Given the description of an element on the screen output the (x, y) to click on. 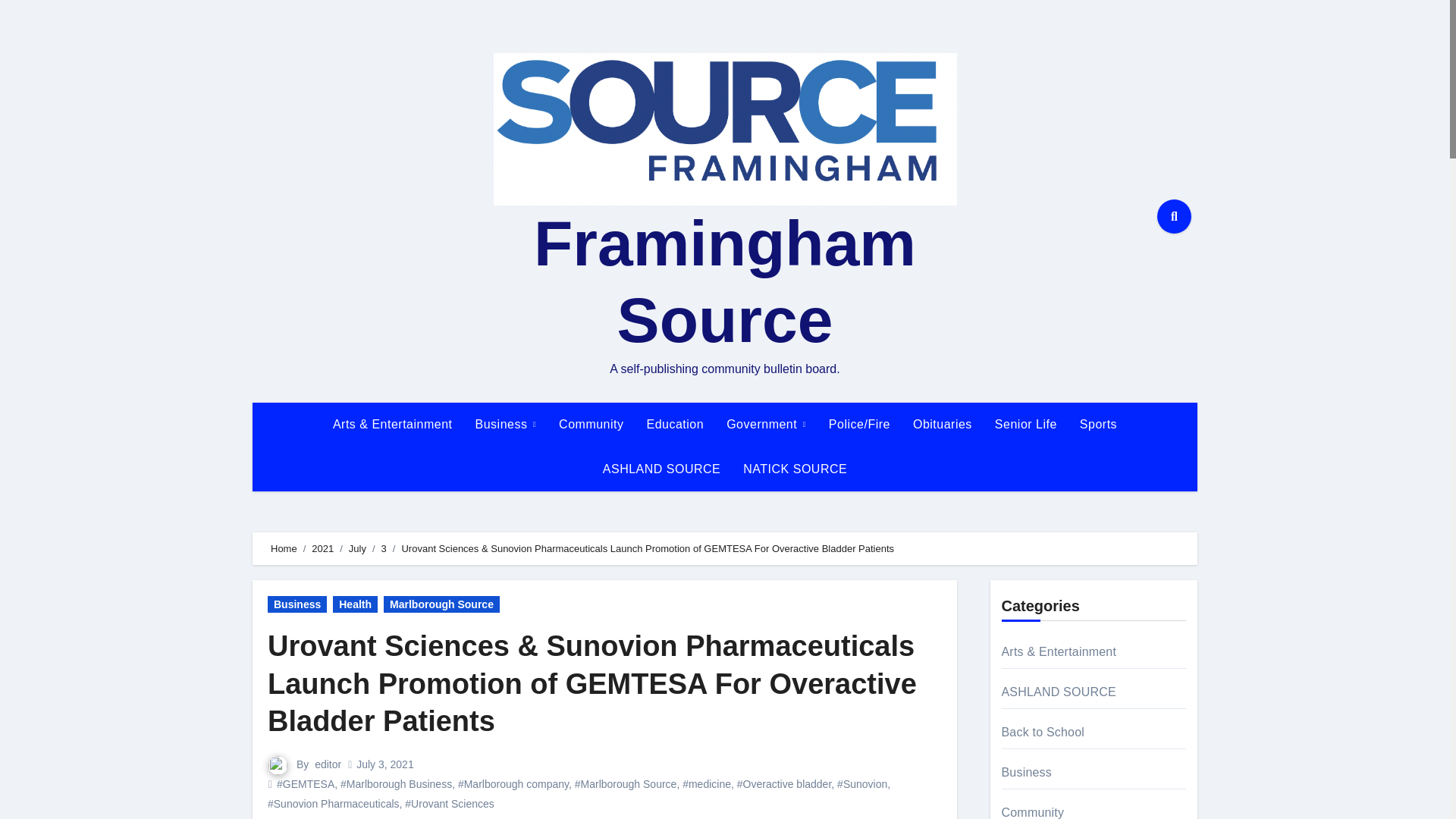
Business (506, 424)
Community (590, 424)
NATICK SOURCE (795, 469)
ASHLAND SOURCE (661, 469)
Government (765, 424)
Sports (1098, 424)
NATICK SOURCE (795, 469)
Obituaries (942, 424)
Government (765, 424)
Health (355, 604)
Obituaries (942, 424)
Marlborough Source (441, 604)
Home (283, 548)
Business (296, 604)
Framingham Source (724, 281)
